Given the description of an element on the screen output the (x, y) to click on. 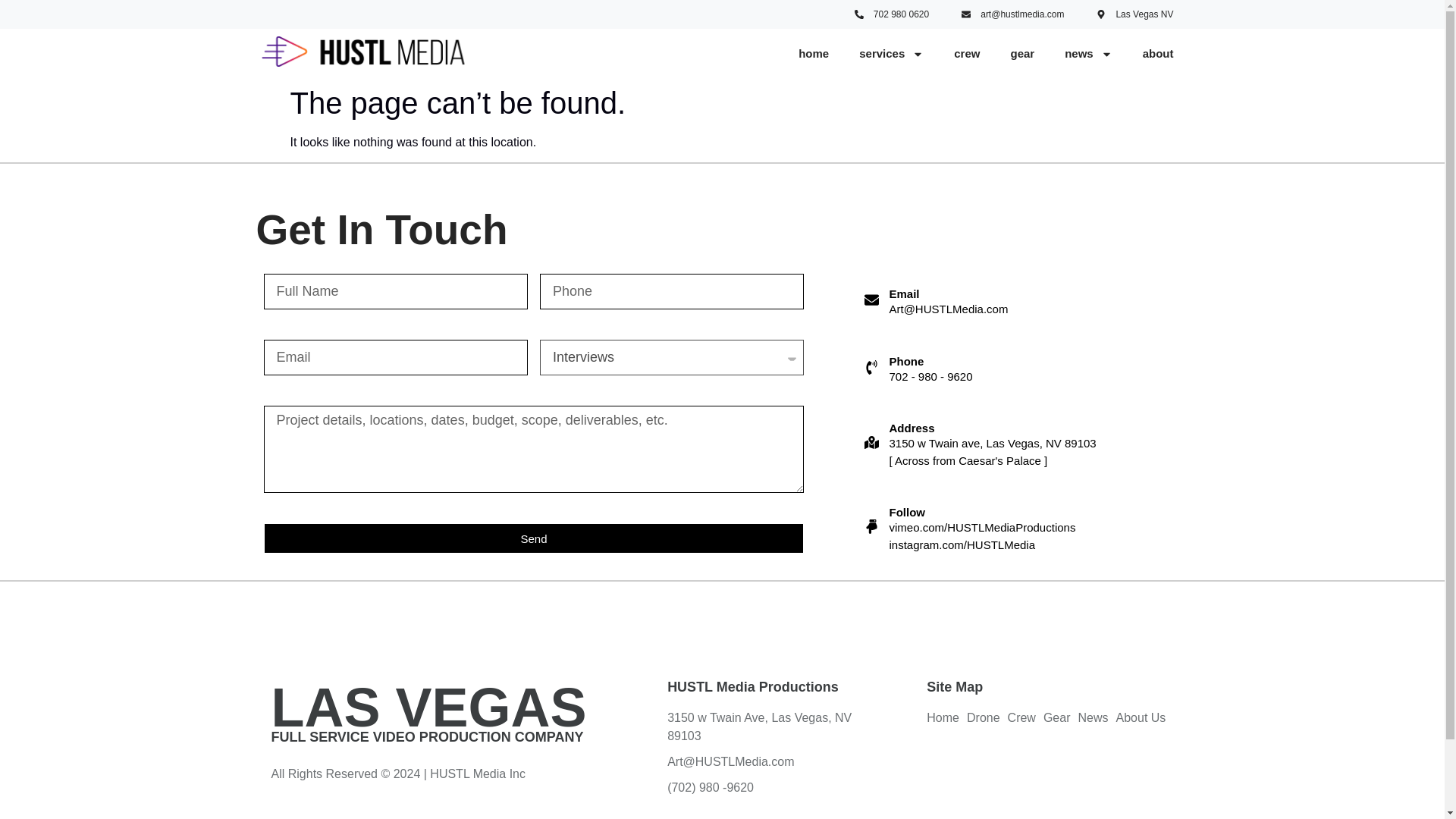
gear (1021, 53)
Email (903, 293)
about (1157, 53)
services (891, 53)
news (1087, 53)
home (813, 53)
crew (966, 53)
Send (534, 538)
Phone (905, 360)
